Given the description of an element on the screen output the (x, y) to click on. 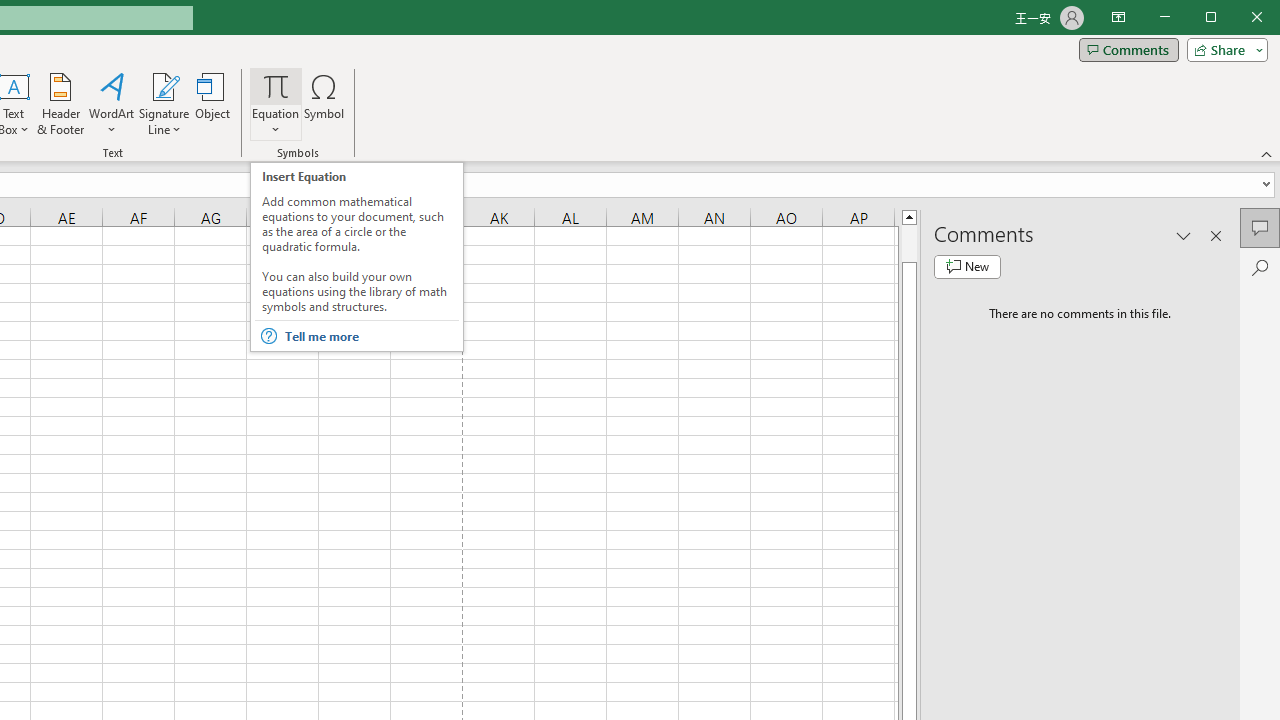
Equation (275, 86)
Tell me more (370, 336)
Equation (275, 104)
Search (1260, 267)
Page up (909, 243)
Symbol... (324, 104)
Close pane (1215, 235)
Signature Line (164, 104)
Signature Line (164, 86)
